Given the description of an element on the screen output the (x, y) to click on. 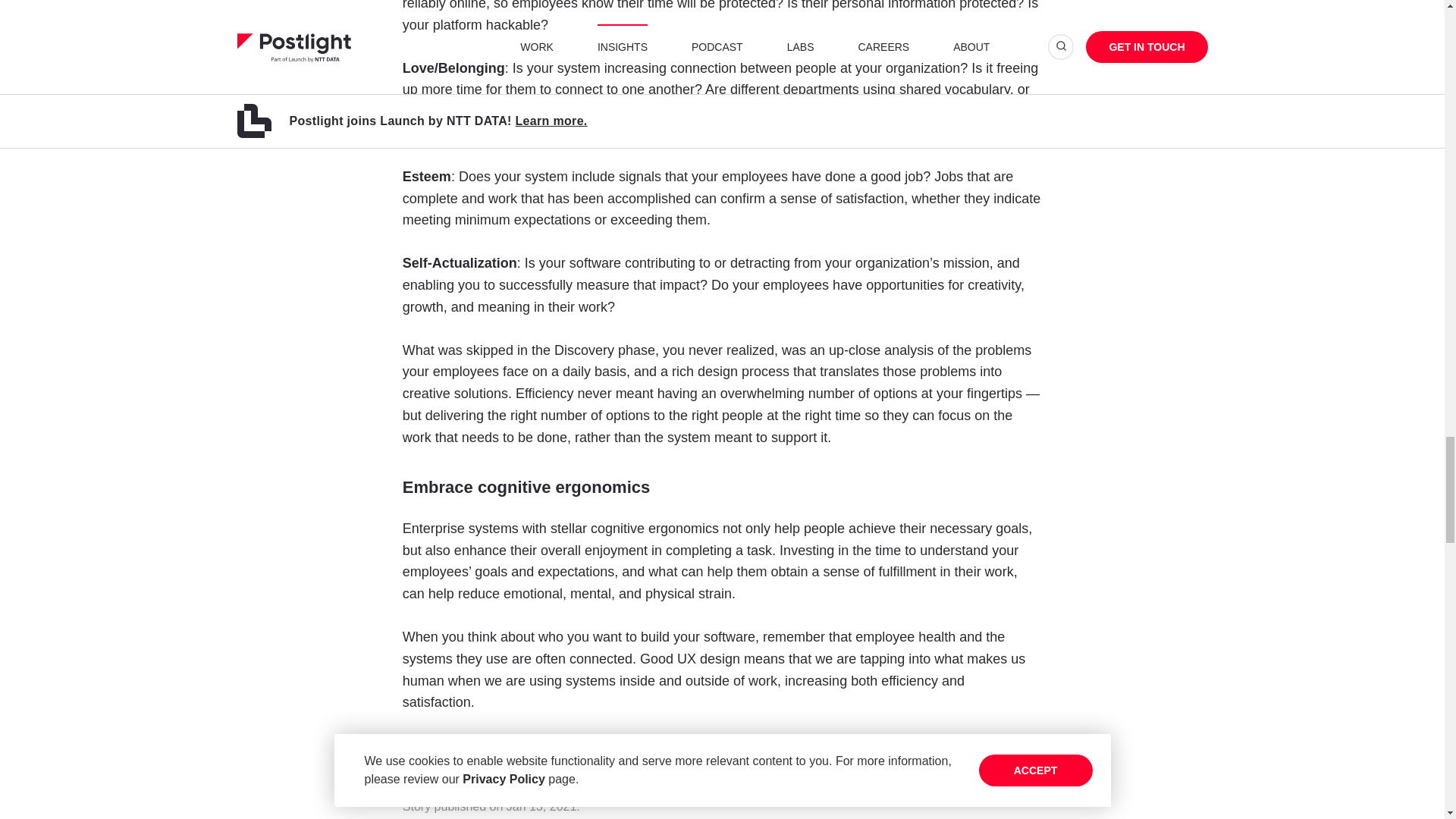
Sarah Cassidy (449, 744)
